Given the description of an element on the screen output the (x, y) to click on. 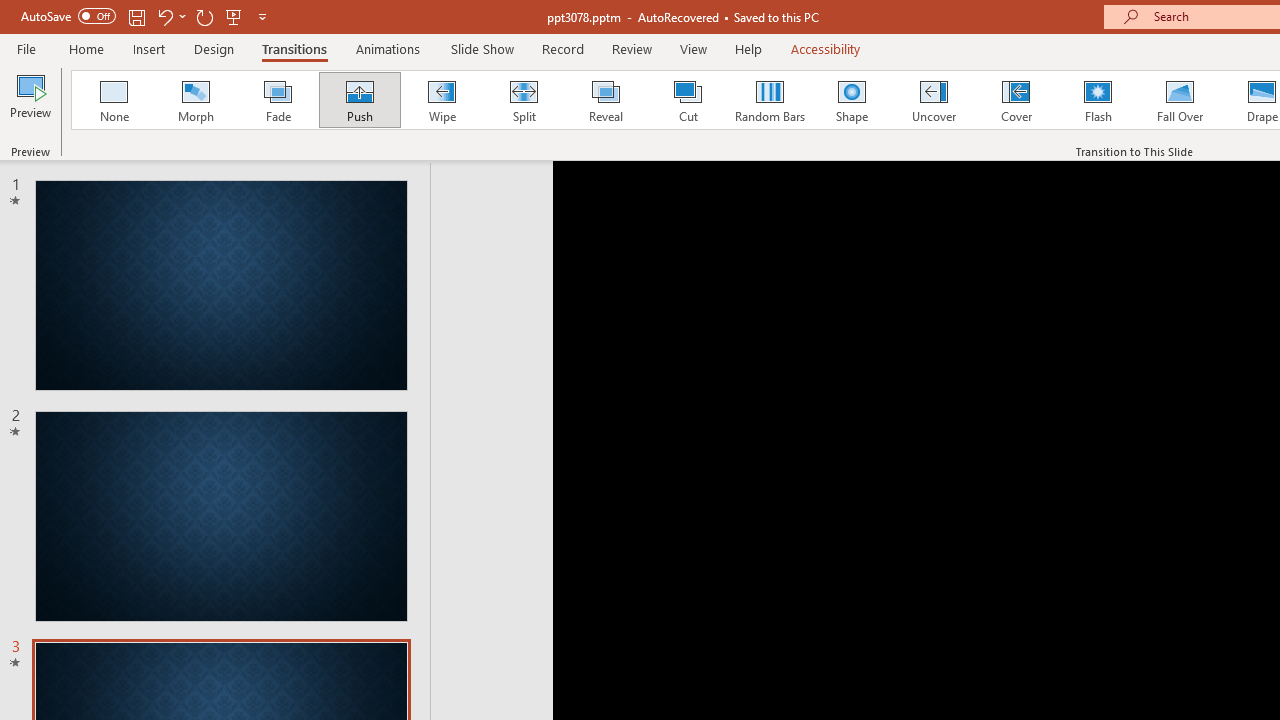
Morph (195, 100)
Preview (30, 102)
